Given the description of an element on the screen output the (x, y) to click on. 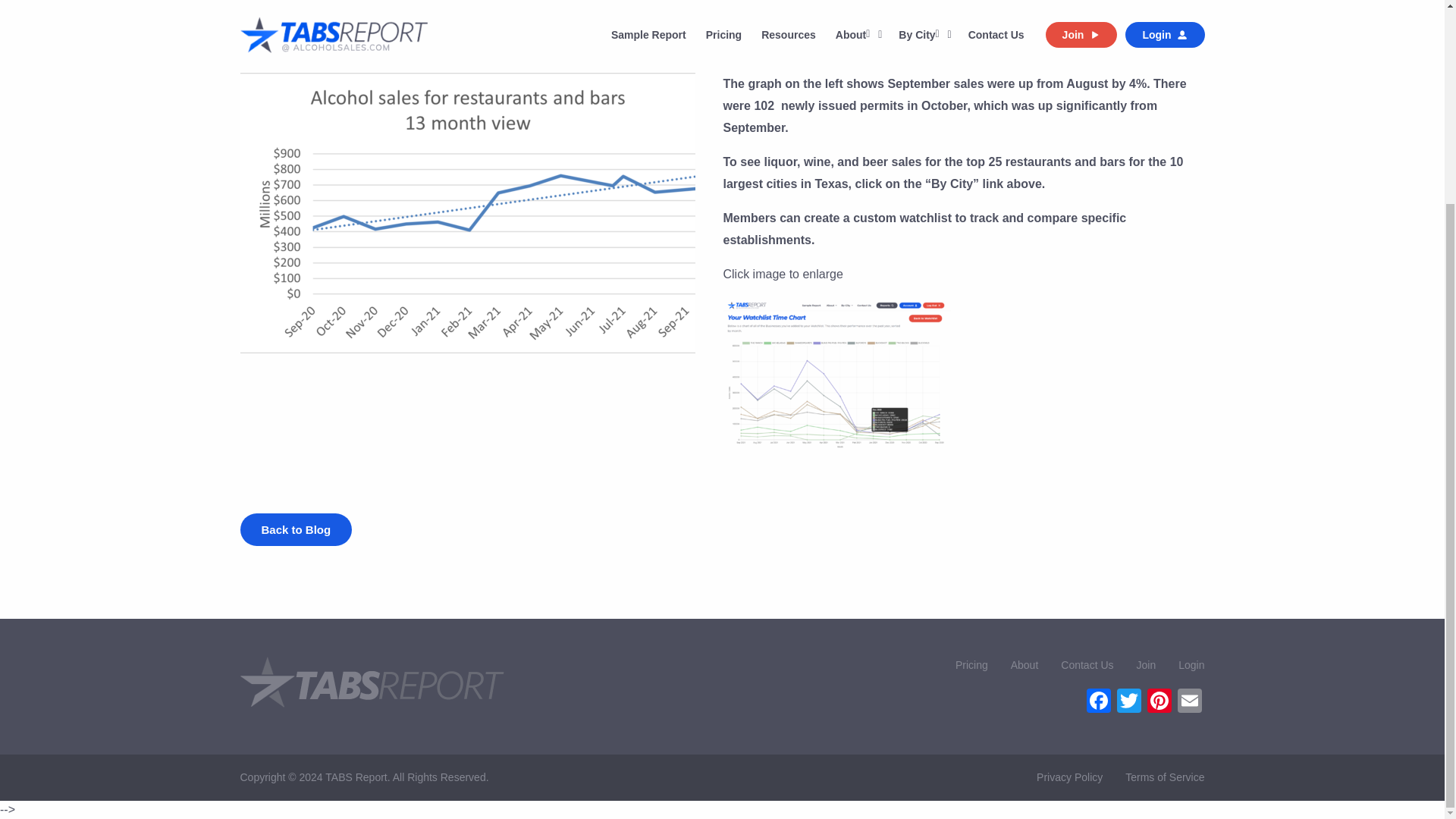
Twitter (1127, 702)
Facebook (1098, 702)
Pinterest (1157, 702)
Email (1188, 702)
